Given the description of an element on the screen output the (x, y) to click on. 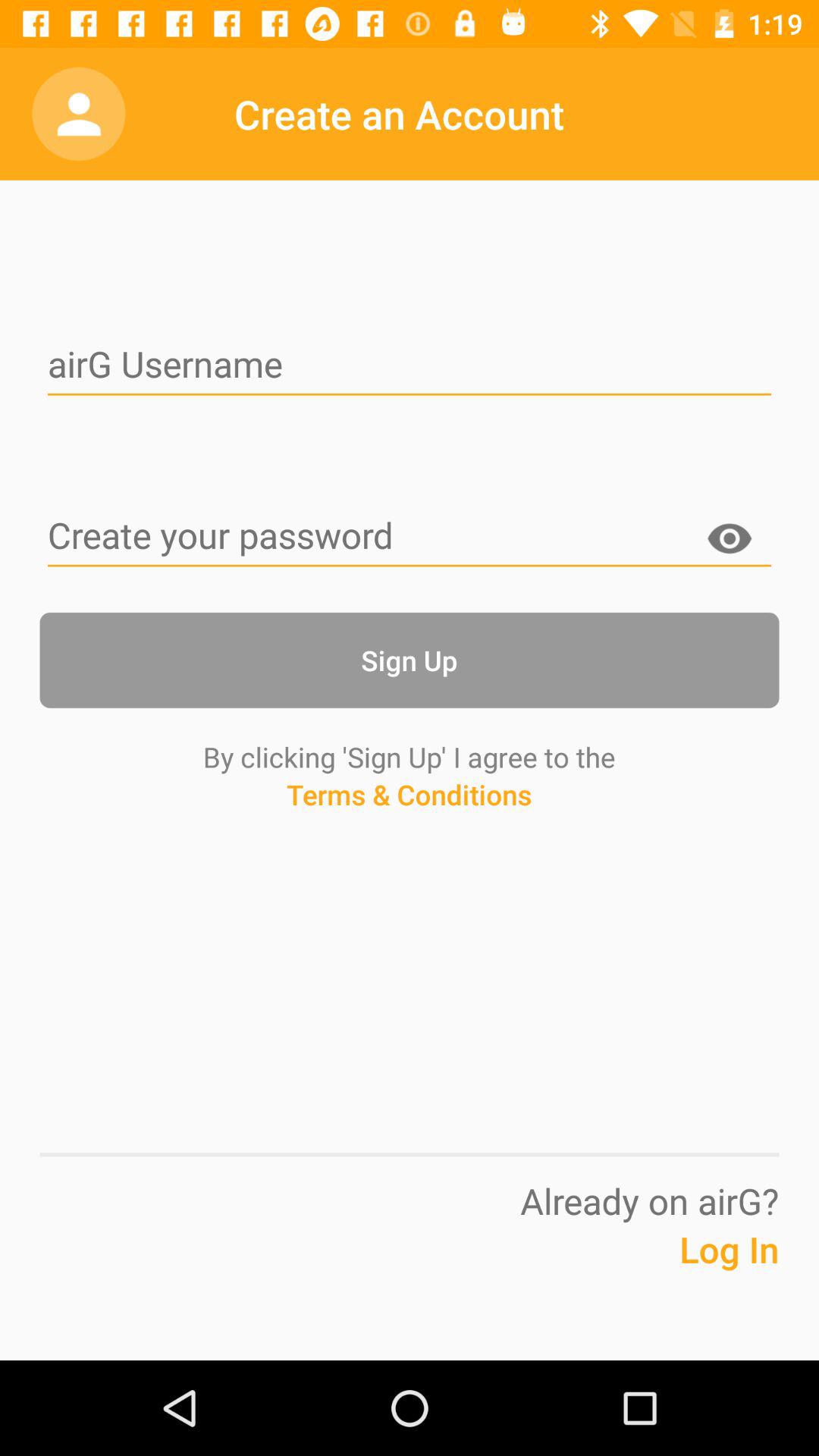
click icon on the right (729, 541)
